Given the description of an element on the screen output the (x, y) to click on. 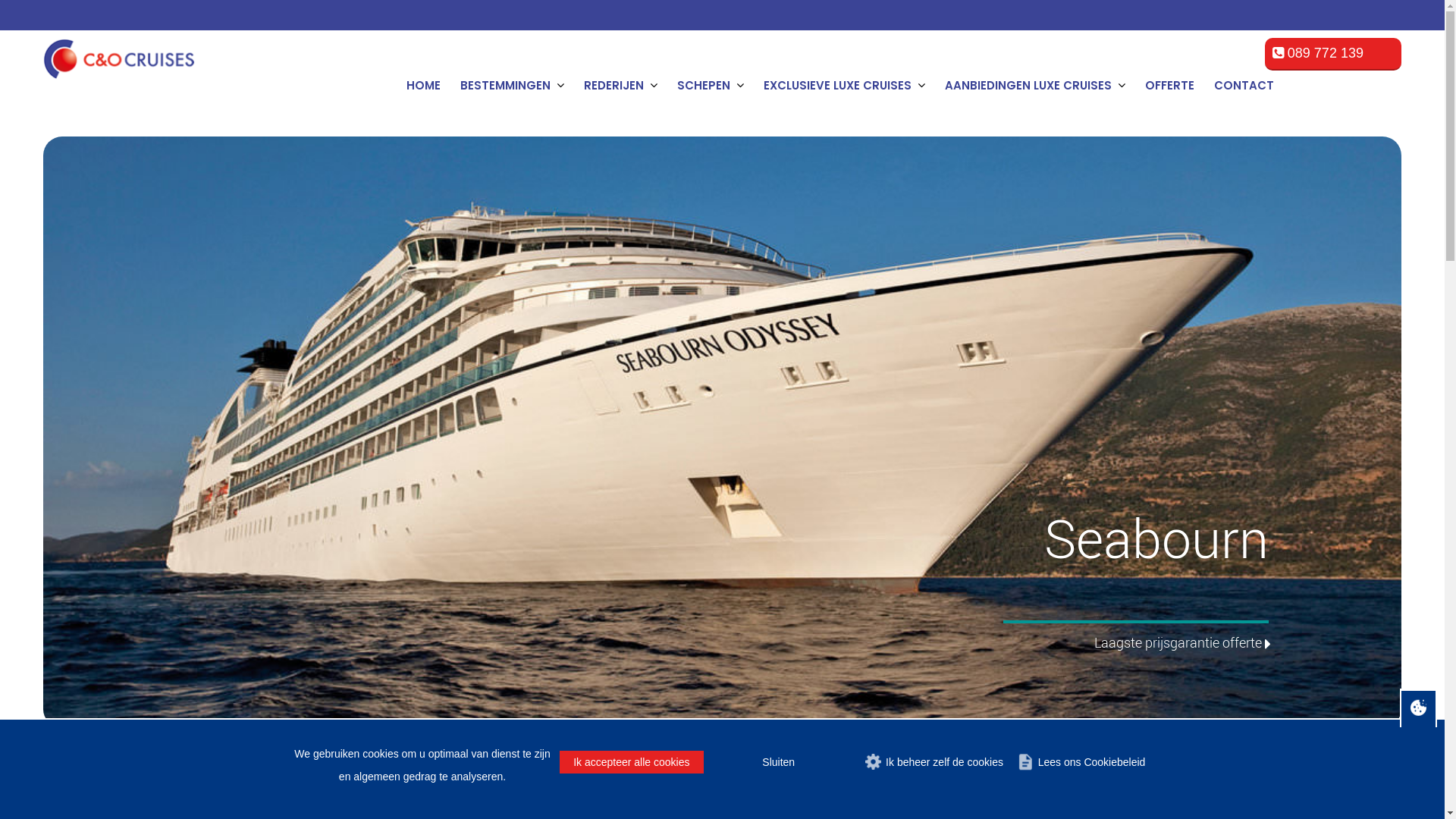
Rederijen Element type: text (153, 791)
EXCLUSIEVE LUXE CRUISES Element type: text (840, 83)
Sluiten Element type: text (778, 761)
BESTEMMINGEN Element type: text (508, 83)
AANBIEDINGEN LUXE CRUISES Element type: text (1031, 83)
REDERIJEN Element type: text (616, 83)
Ik accepteer alle cookies Element type: text (631, 761)
Lees ons Cookiebeleid Element type: text (1082, 761)
Laagste prijsgarantie offerte Element type: text (1177, 642)
Homepage Element type: text (91, 791)
OFFERTE Element type: text (1165, 83)
HOME Element type: text (419, 83)
SCHEPEN Element type: text (706, 83)
Seabourn Element type: text (207, 791)
Ik beheer zelf de cookies Element type: text (935, 761)
CONTACT Element type: text (1240, 83)
